Given the description of an element on the screen output the (x, y) to click on. 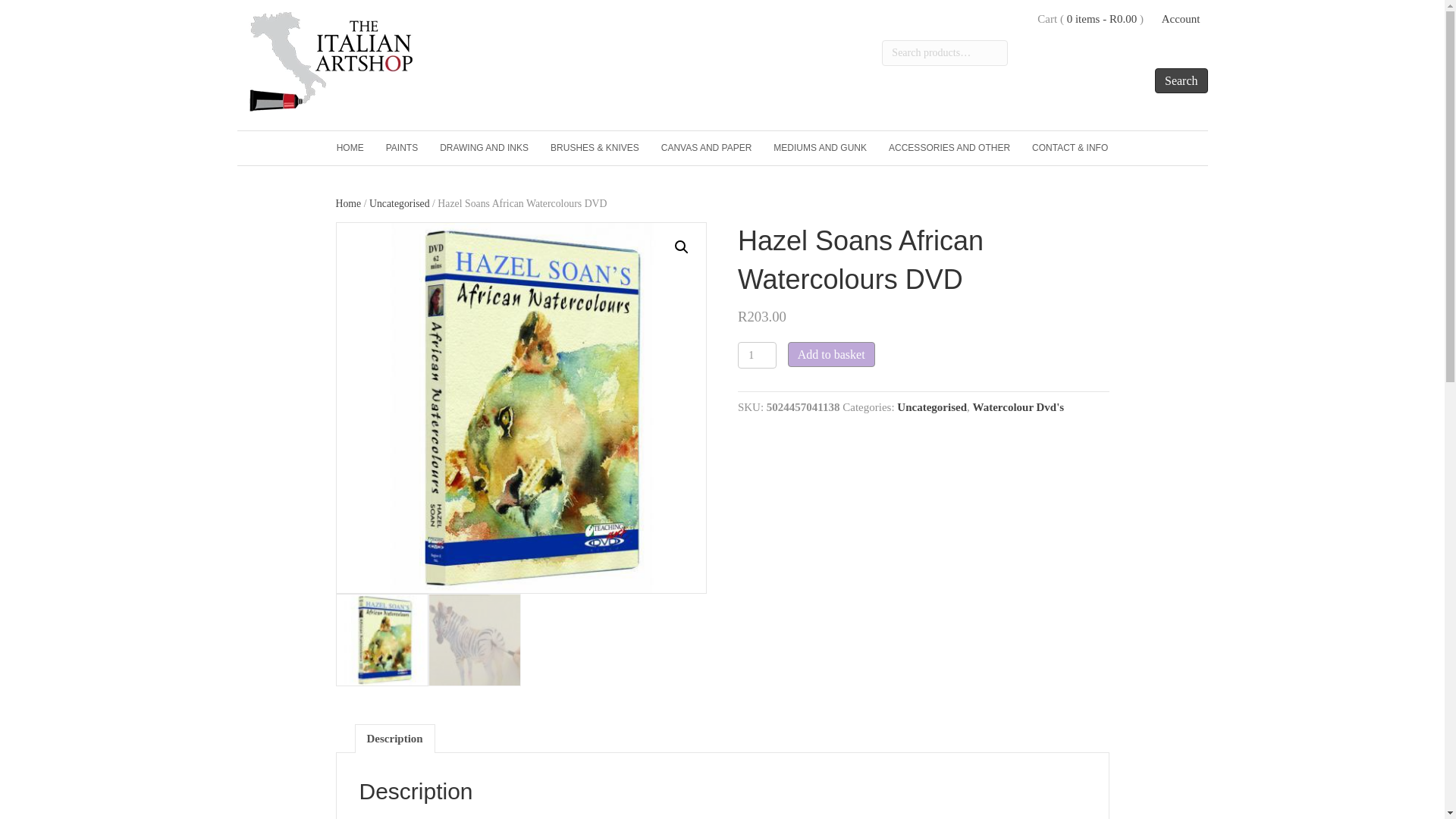
Search (1181, 80)
PAINTS (401, 148)
1 (757, 355)
0 items - R0.00 (1102, 19)
View your shopping cart (1102, 19)
Account (1180, 19)
HOME (350, 148)
logo (331, 61)
